Given the description of an element on the screen output the (x, y) to click on. 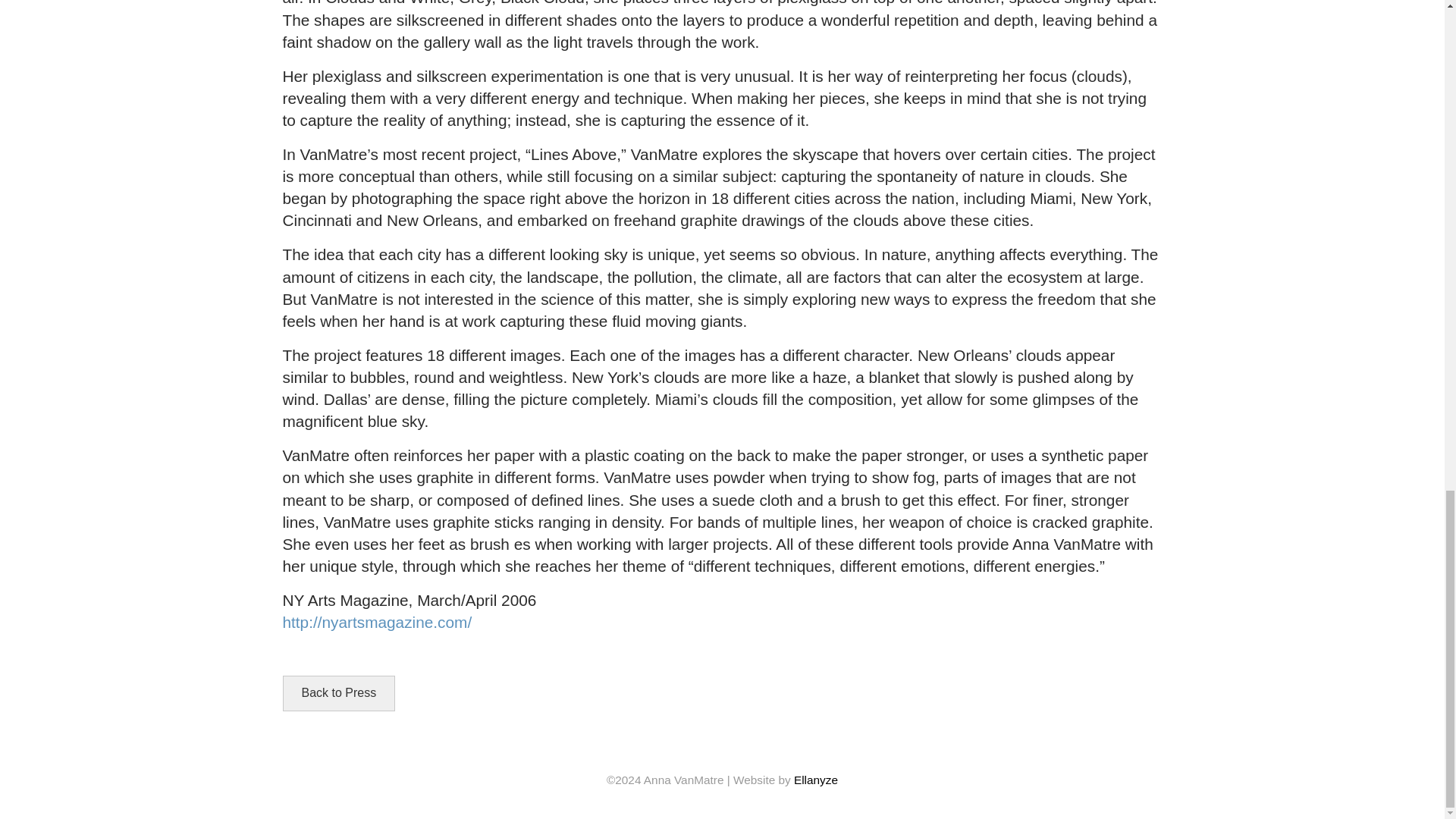
Ellanyze (815, 779)
Back to Press (338, 693)
